Given the description of an element on the screen output the (x, y) to click on. 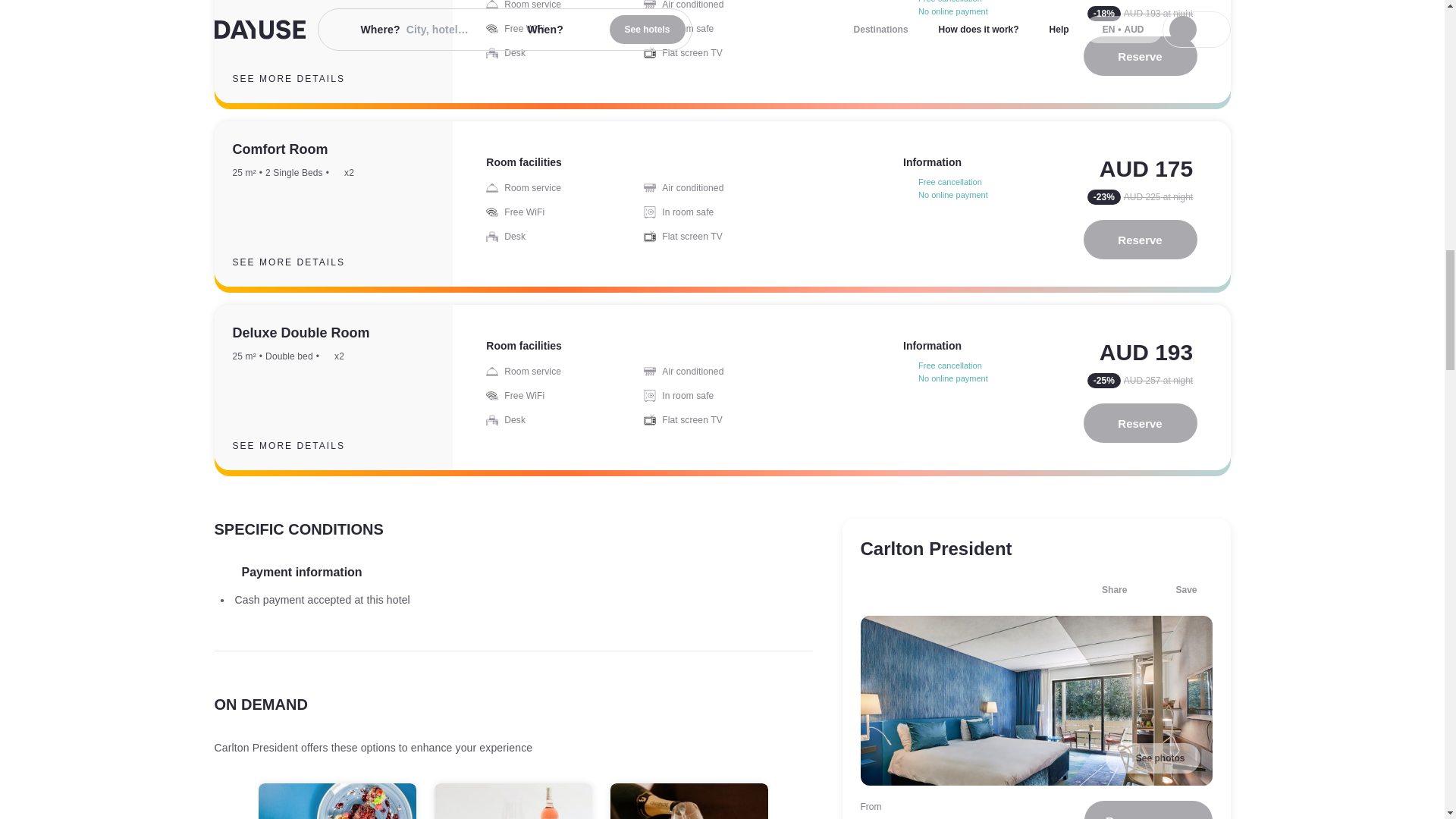
SEE MORE DETAILS (300, 262)
SEE MORE DETAILS (300, 78)
Reserve (1139, 56)
